Given the description of an element on the screen output the (x, y) to click on. 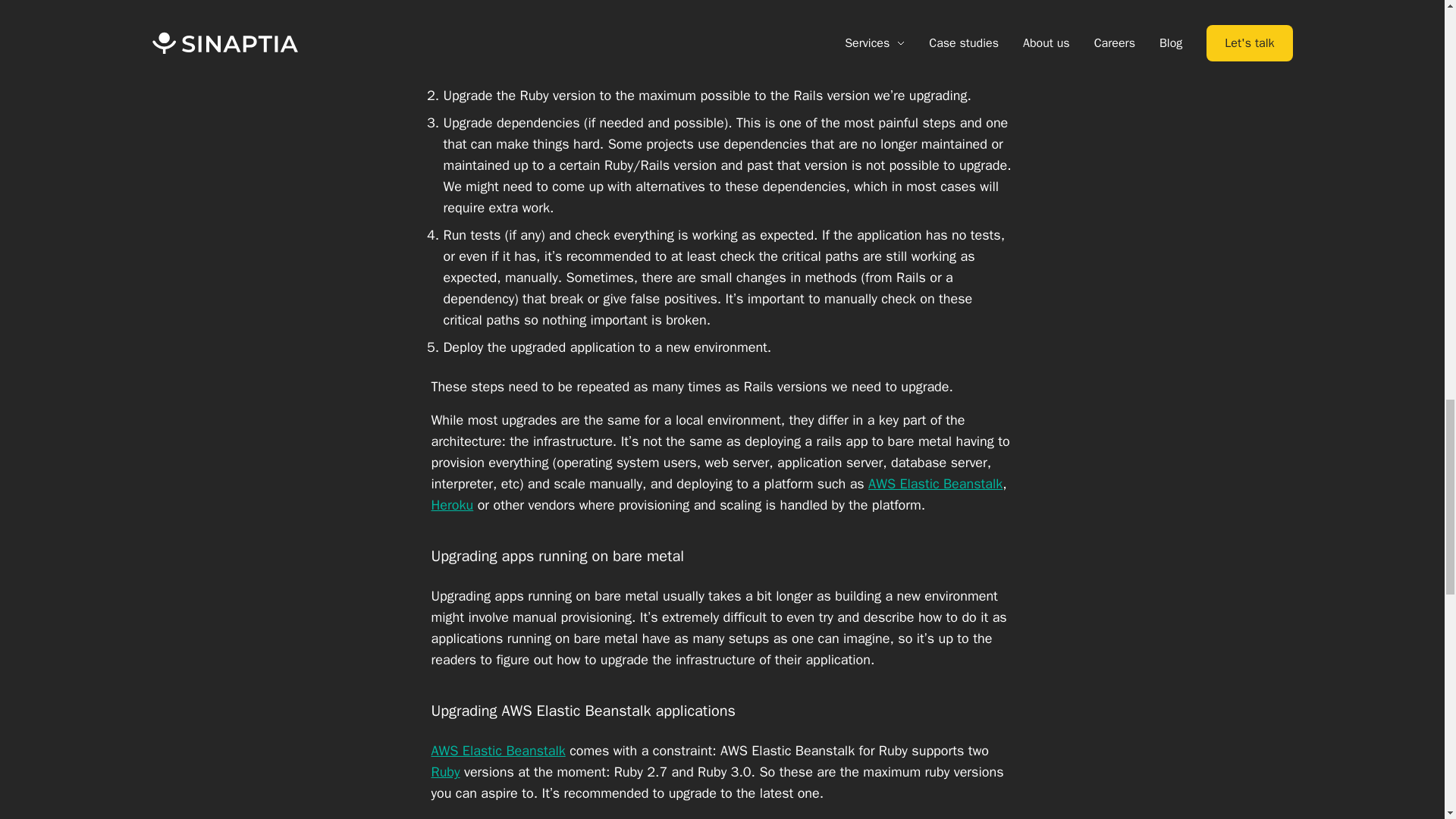
AWS Elastic Beanstalk (497, 750)
Heroku (451, 504)
Ruby (445, 771)
AWS Elastic Beanstalk (935, 483)
